Given the description of an element on the screen output the (x, y) to click on. 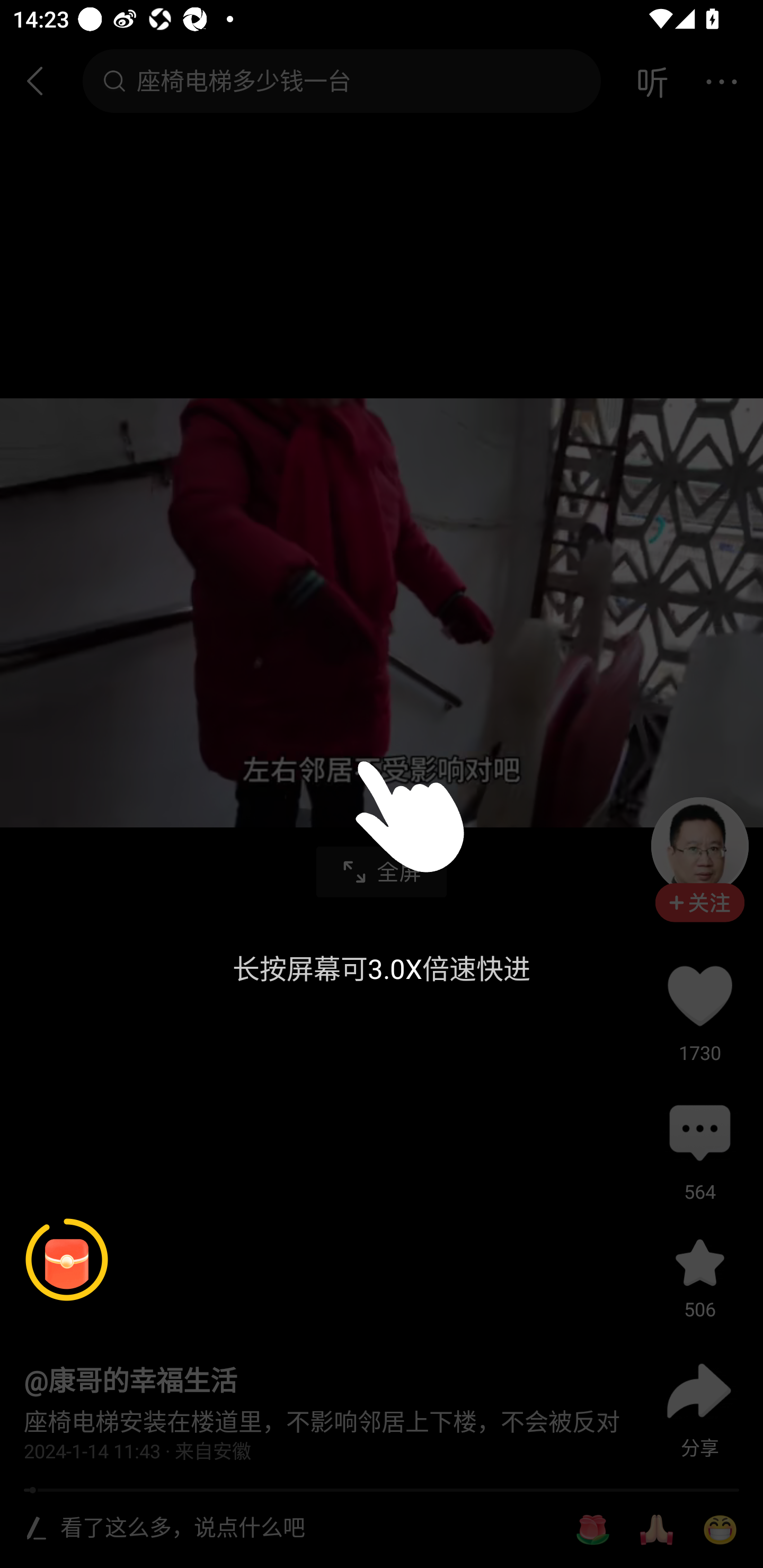
座椅电梯多少钱一台 搜索框，座椅电梯多少钱一台 (341, 80)
返回 (43, 80)
音频 (651, 80)
头像 (699, 845)
全屏播放 (381, 871)
点赞1730 1730 (699, 995)
评论564 评论 564 (699, 1134)
收藏 506 (699, 1262)
阅读赚金币 (66, 1259)
分享 (699, 1390)
@康哥的幸福生活 (130, 1381)
看了这么多，说点什么吧 (305, 1529)
[玫瑰] (592, 1530)
[祈祷] (656, 1530)
[呲牙] (719, 1530)
